Given the description of an element on the screen output the (x, y) to click on. 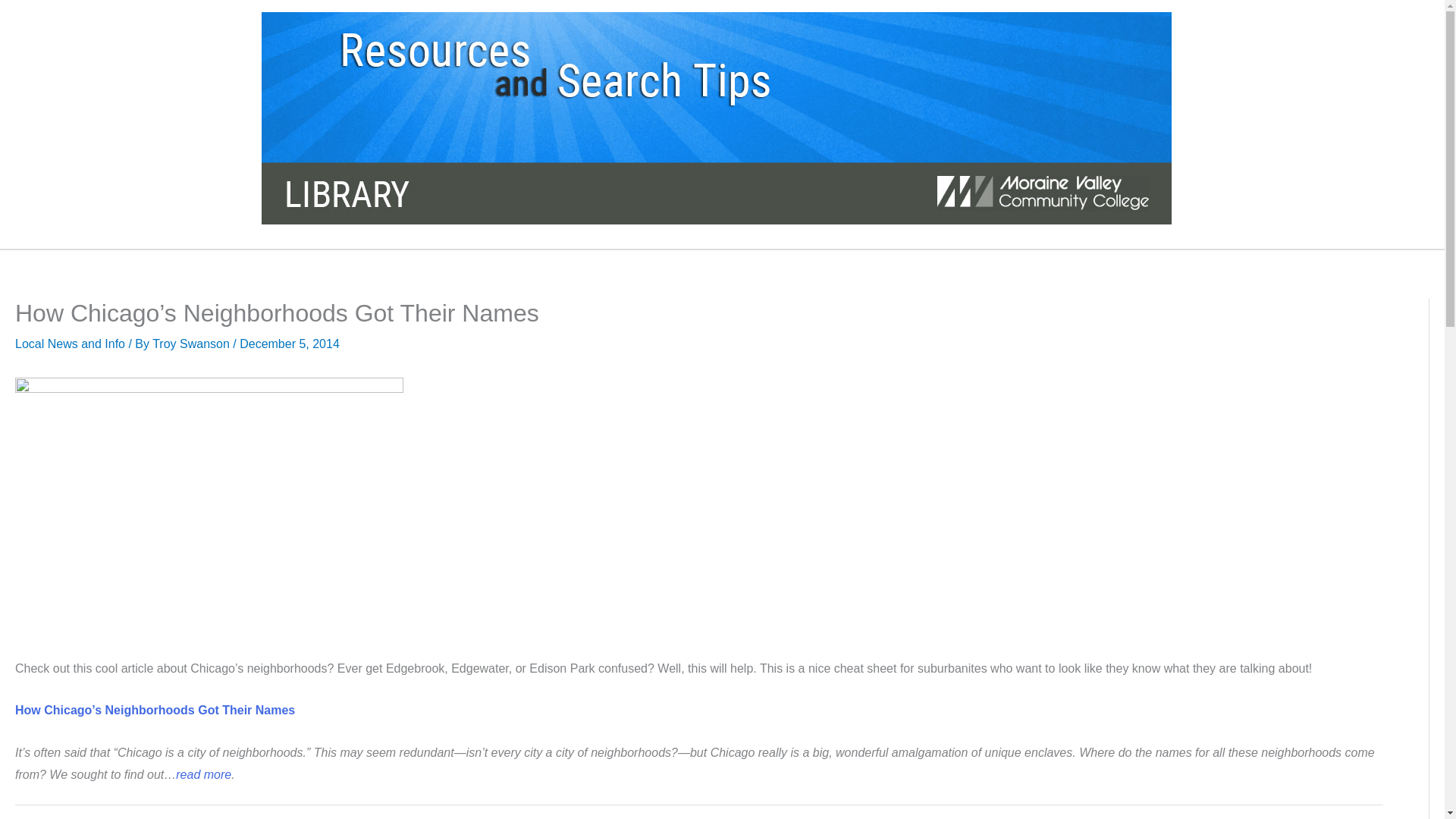
Troy Swanson (192, 343)
View all posts by Troy Swanson (192, 343)
Local News and Info (69, 343)
read more (203, 774)
